Given the description of an element on the screen output the (x, y) to click on. 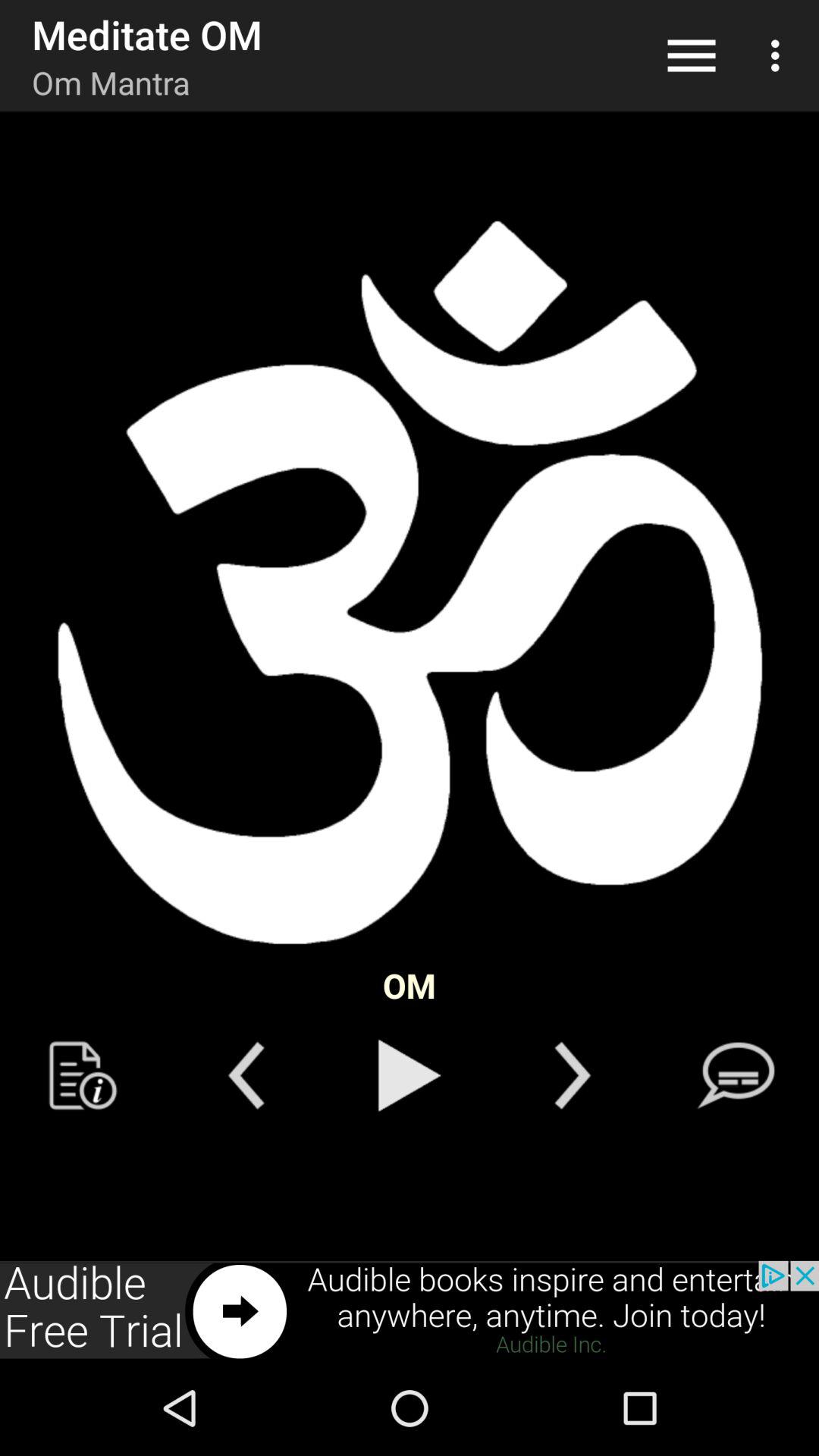
go back (246, 1075)
